Given the description of an element on the screen output the (x, y) to click on. 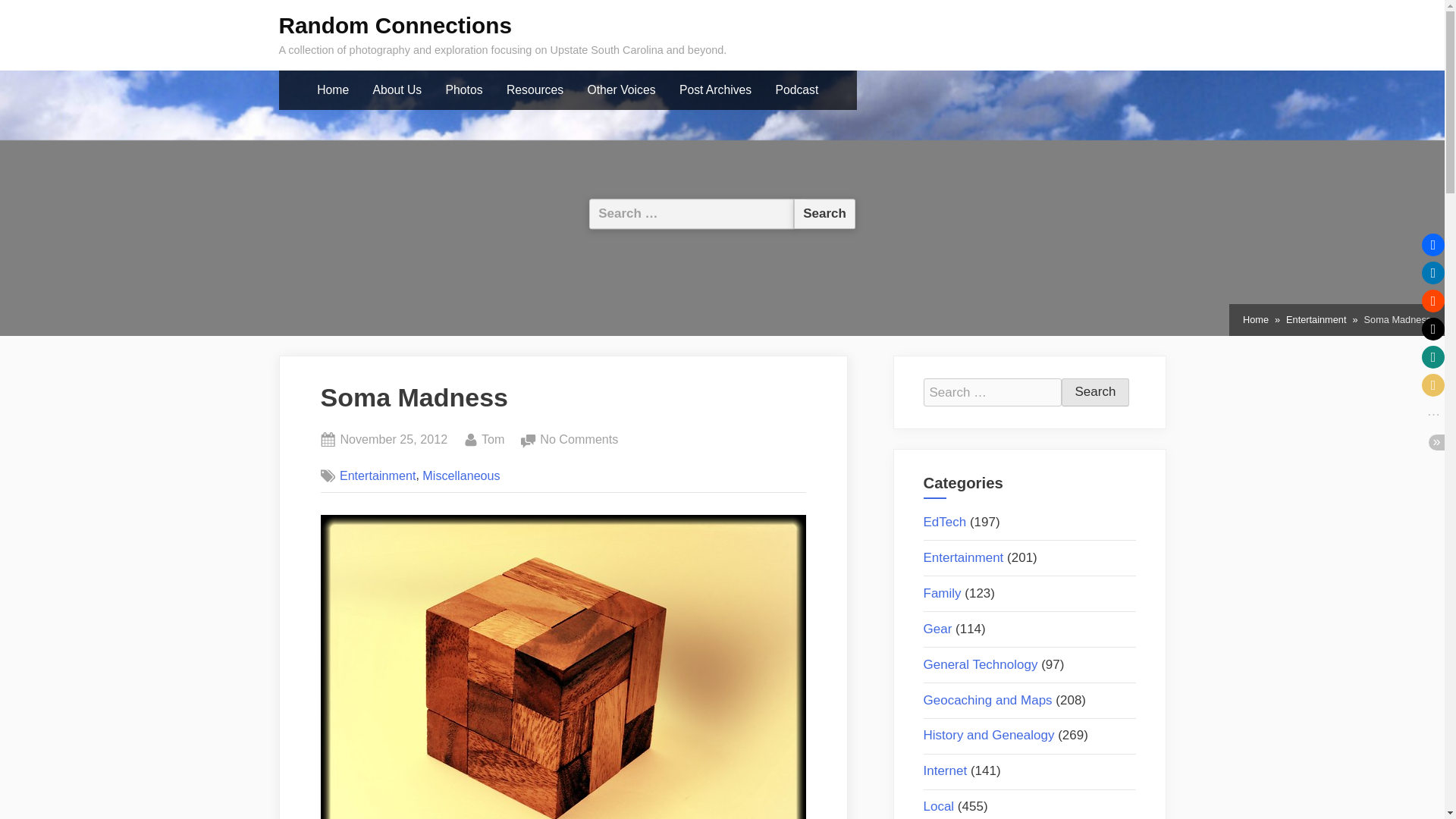
Entertainment (1315, 320)
Home (332, 90)
Resources (534, 90)
Search (1095, 392)
Search (493, 439)
Search (392, 439)
Home (824, 214)
Miscellaneous (1095, 392)
